Given the description of an element on the screen output the (x, y) to click on. 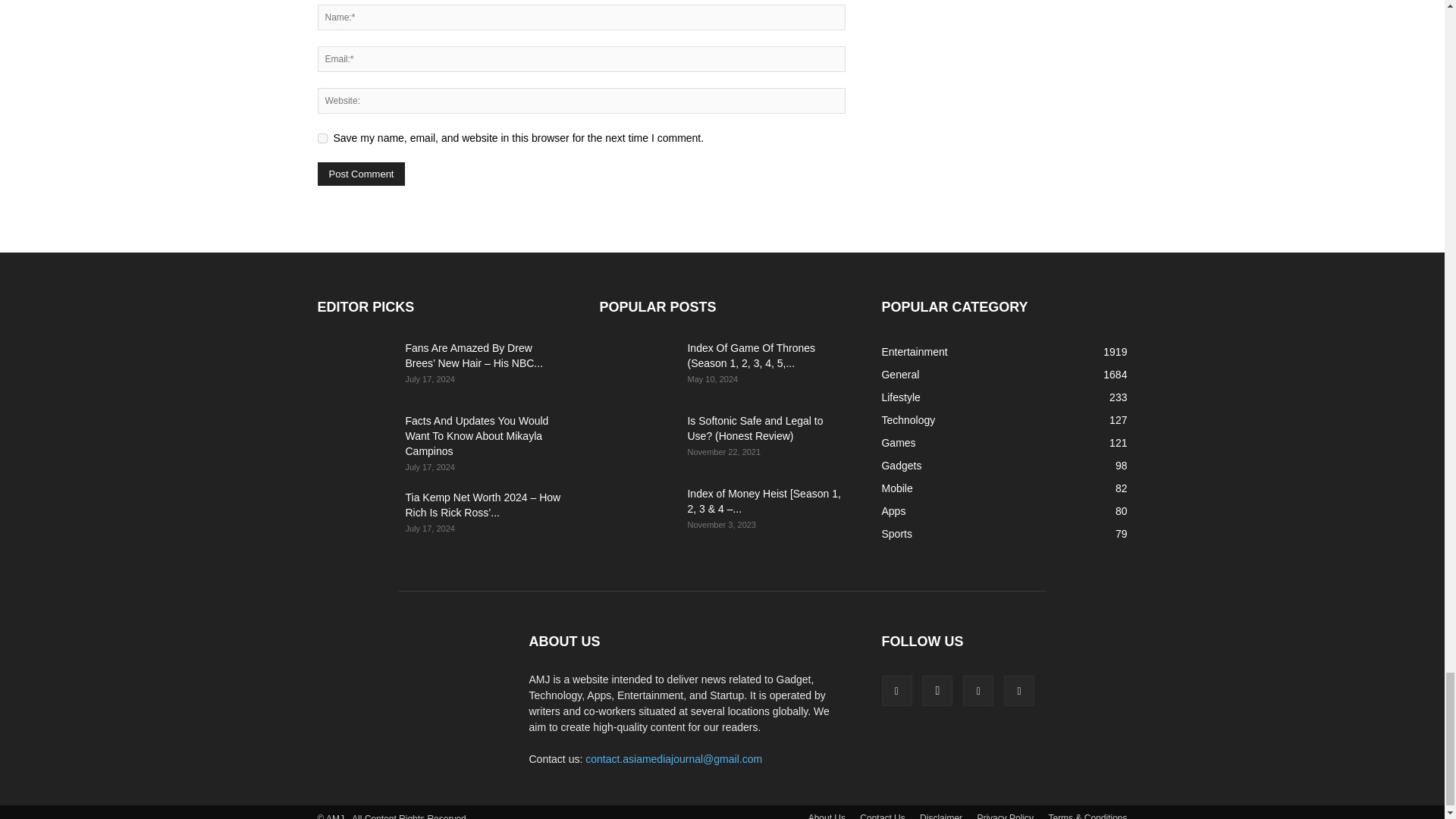
yes (321, 138)
Post Comment (360, 173)
